Given the description of an element on the screen output the (x, y) to click on. 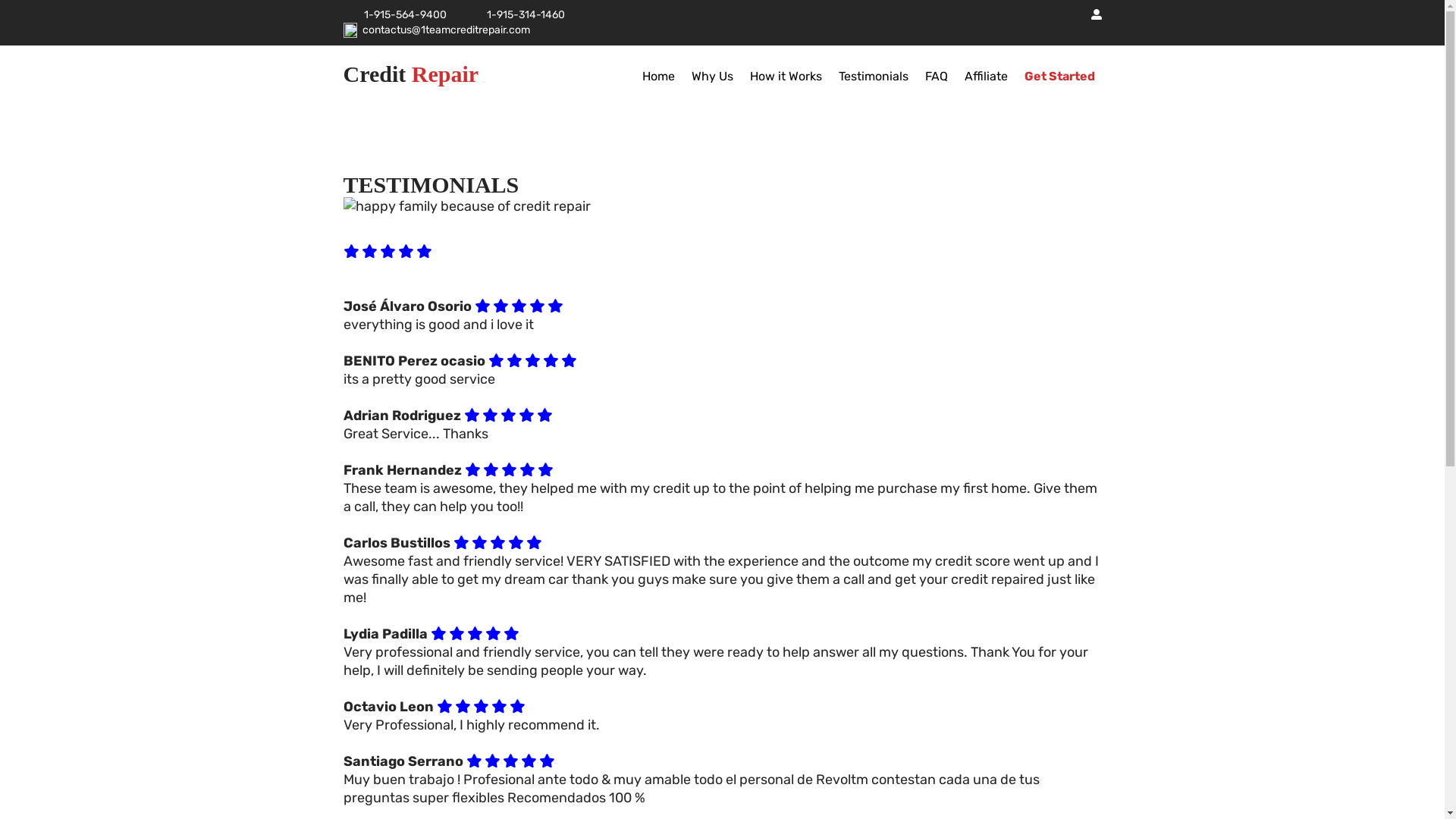
How it Works Element type: text (785, 76)
1-915-314-1460 Element type: text (525, 14)
Home Element type: text (657, 76)
Testimonials Element type: text (873, 76)
Get Started Element type: text (1058, 76)
Why Us Element type: text (712, 76)
contactus@1teamcreditrepair.com Element type: text (446, 29)
Affiliate Element type: text (985, 76)
1-915-564-9400 Element type: text (405, 14)
FAQ Element type: text (936, 76)
